Given the description of an element on the screen output the (x, y) to click on. 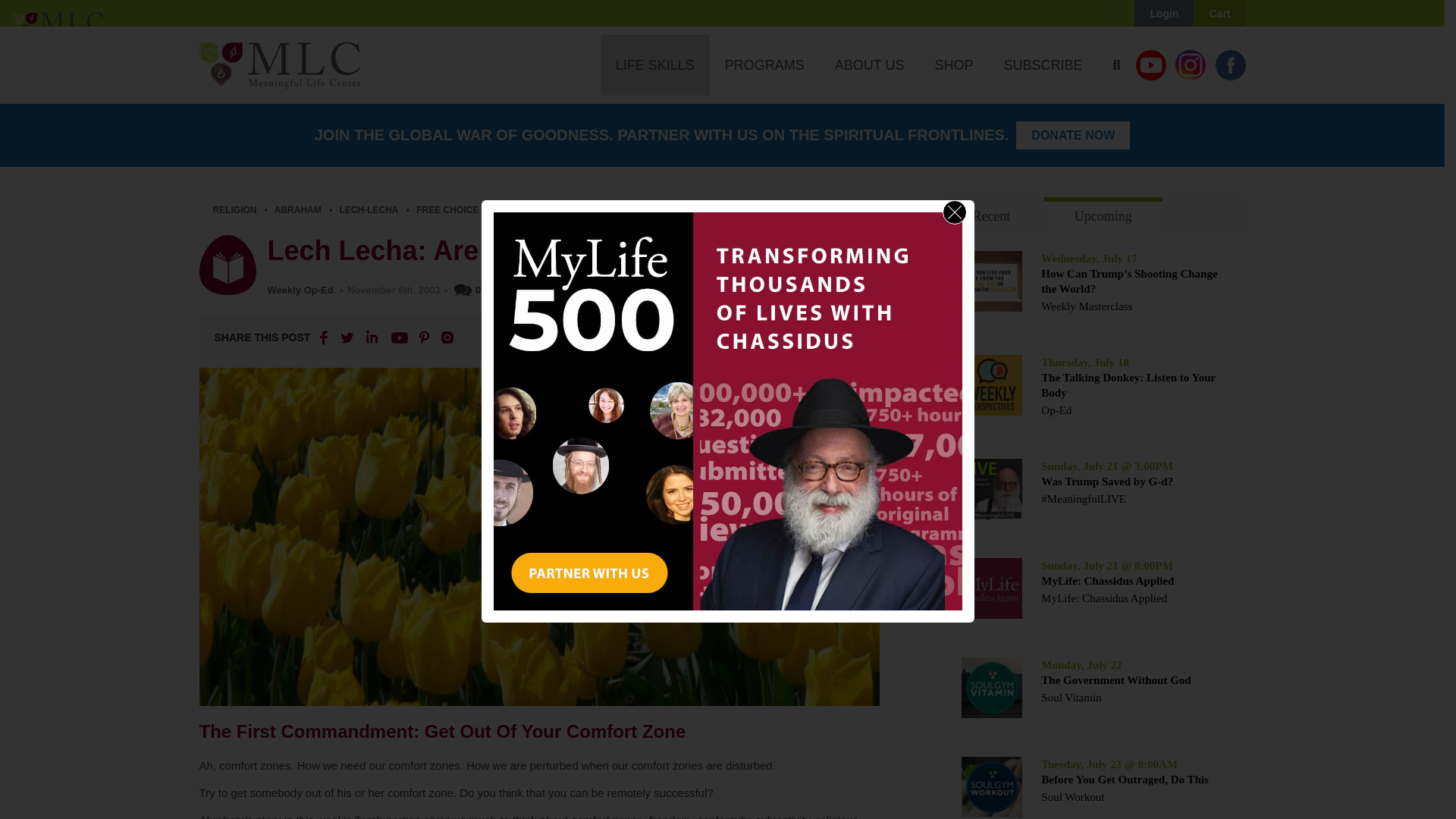
Cart (1218, 13)
Login (1163, 13)
PROGRAMS (764, 65)
LIFE SKILLS (654, 65)
